Given the description of an element on the screen output the (x, y) to click on. 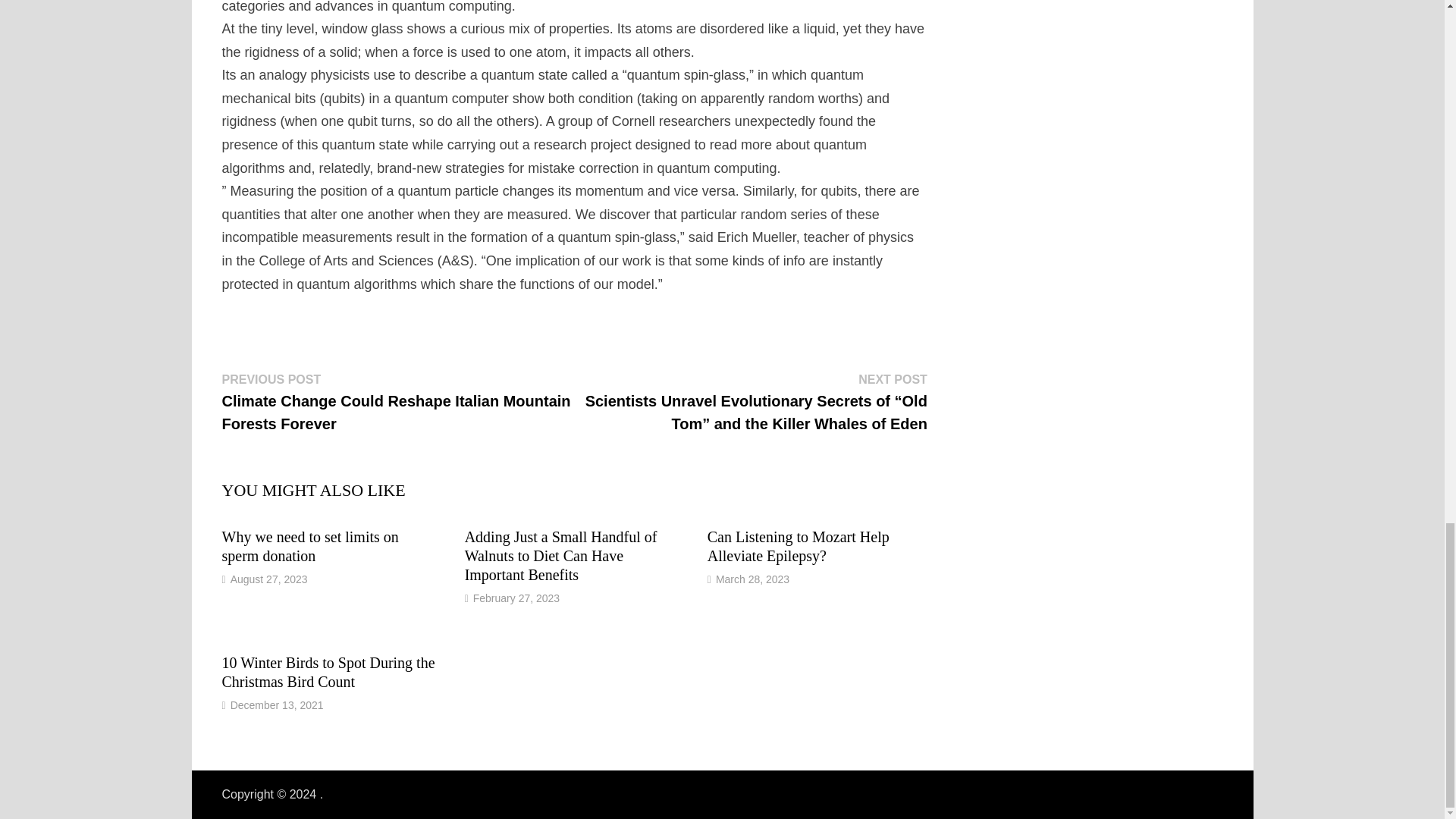
Why we need to set limits on sperm donation (309, 546)
August 27, 2023 (268, 579)
Can Listening to Mozart Help Alleviate Epilepsy? (798, 546)
February 27, 2023 (516, 598)
December 13, 2021 (276, 705)
Can Listening to Mozart Help Alleviate Epilepsy? (798, 546)
